Given the description of an element on the screen output the (x, y) to click on. 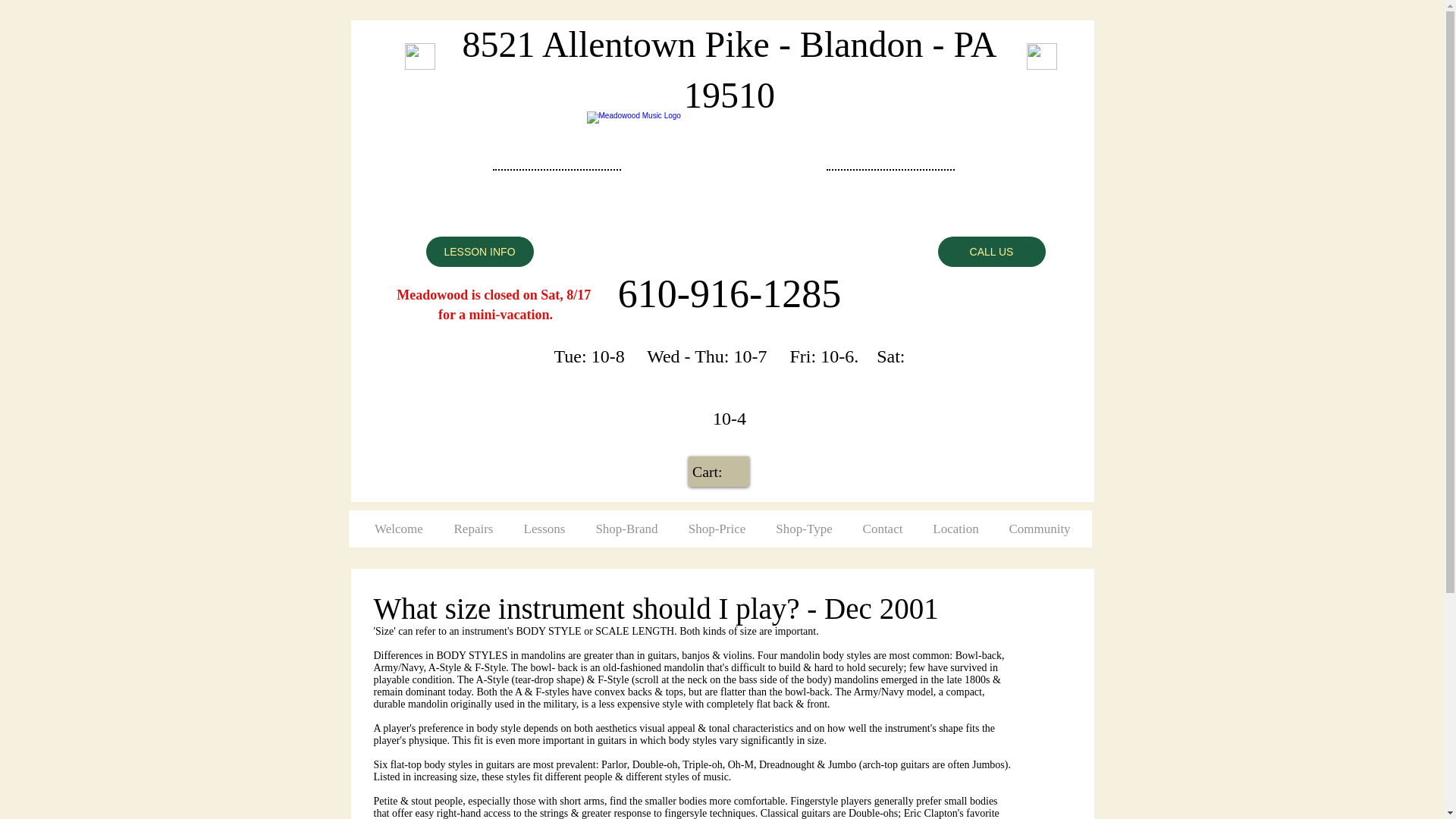
Community (1038, 528)
LESSON INFO (480, 251)
Lessons (543, 528)
Repairs (473, 528)
Shop-Price (716, 528)
Shop-Type (804, 528)
CALL US (991, 251)
Cart: (718, 471)
8521 Allentown Pike -  (631, 44)
Meadowood Music Logo (718, 182)
